Given the description of an element on the screen output the (x, y) to click on. 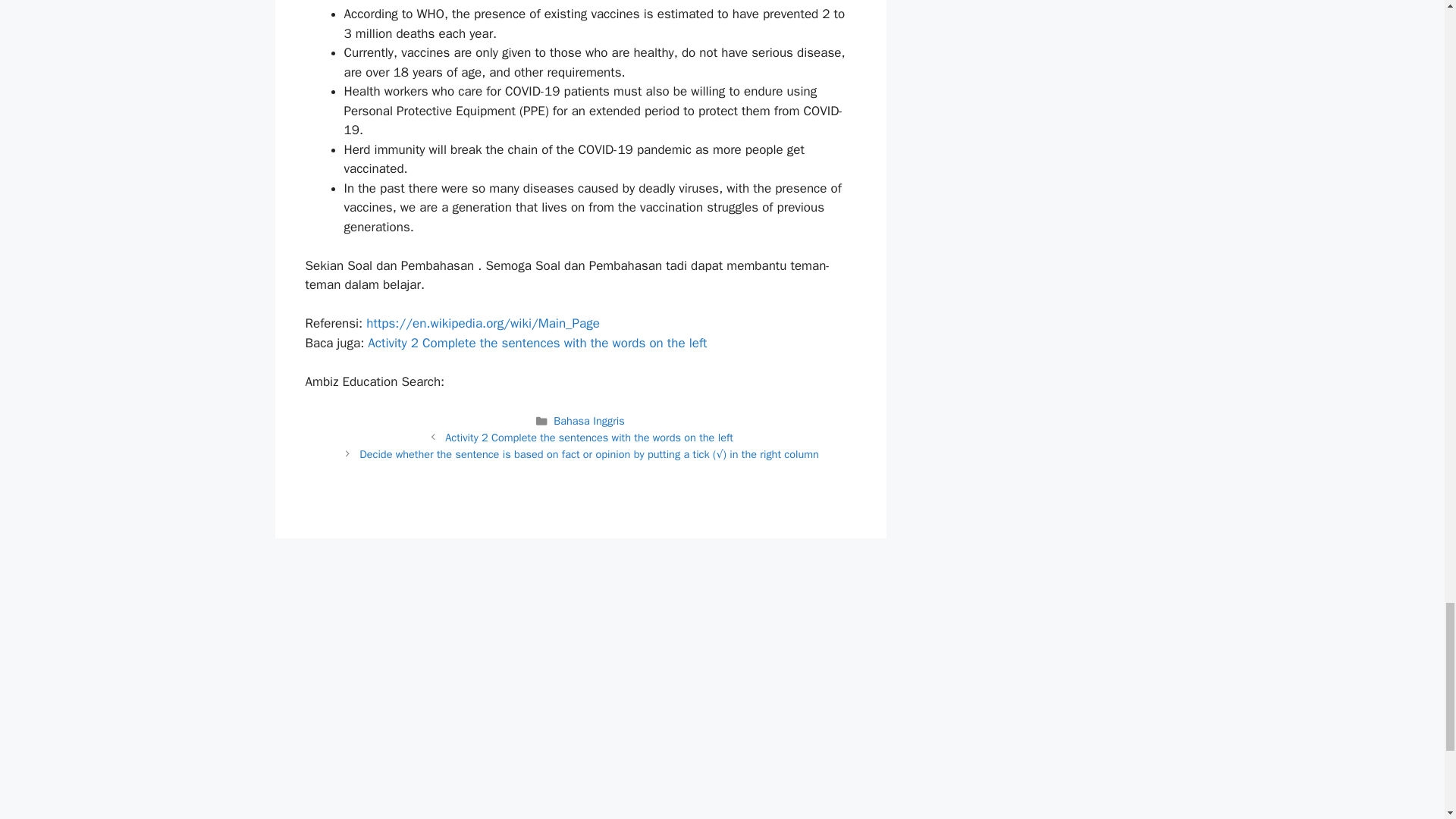
Activity 2 Complete the sentences with the words on the left (589, 437)
Activity 2 Complete the sentences with the words on the left (537, 342)
Bahasa Inggris (588, 420)
